Given the description of an element on the screen output the (x, y) to click on. 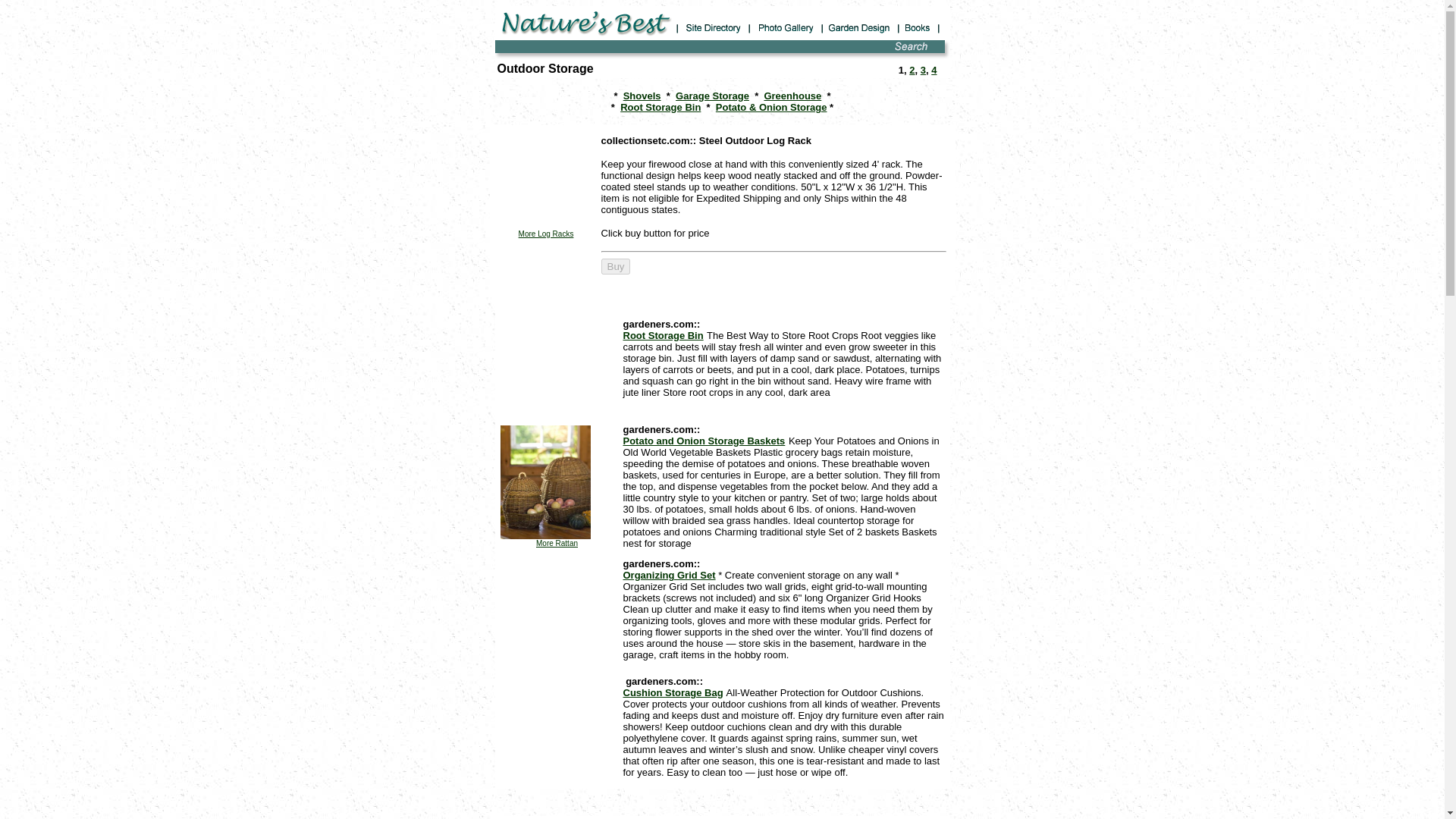
Organizing Grid Set (669, 574)
Root Storage Bin (663, 334)
Buy (614, 266)
Root Storage Bin (660, 107)
Potato and Onion Storage Baskets (704, 440)
Buy (614, 266)
Cushion Storage Bag (673, 692)
Shovels (642, 95)
Greenhouse (791, 95)
More Rattan (556, 542)
